Given the description of an element on the screen output the (x, y) to click on. 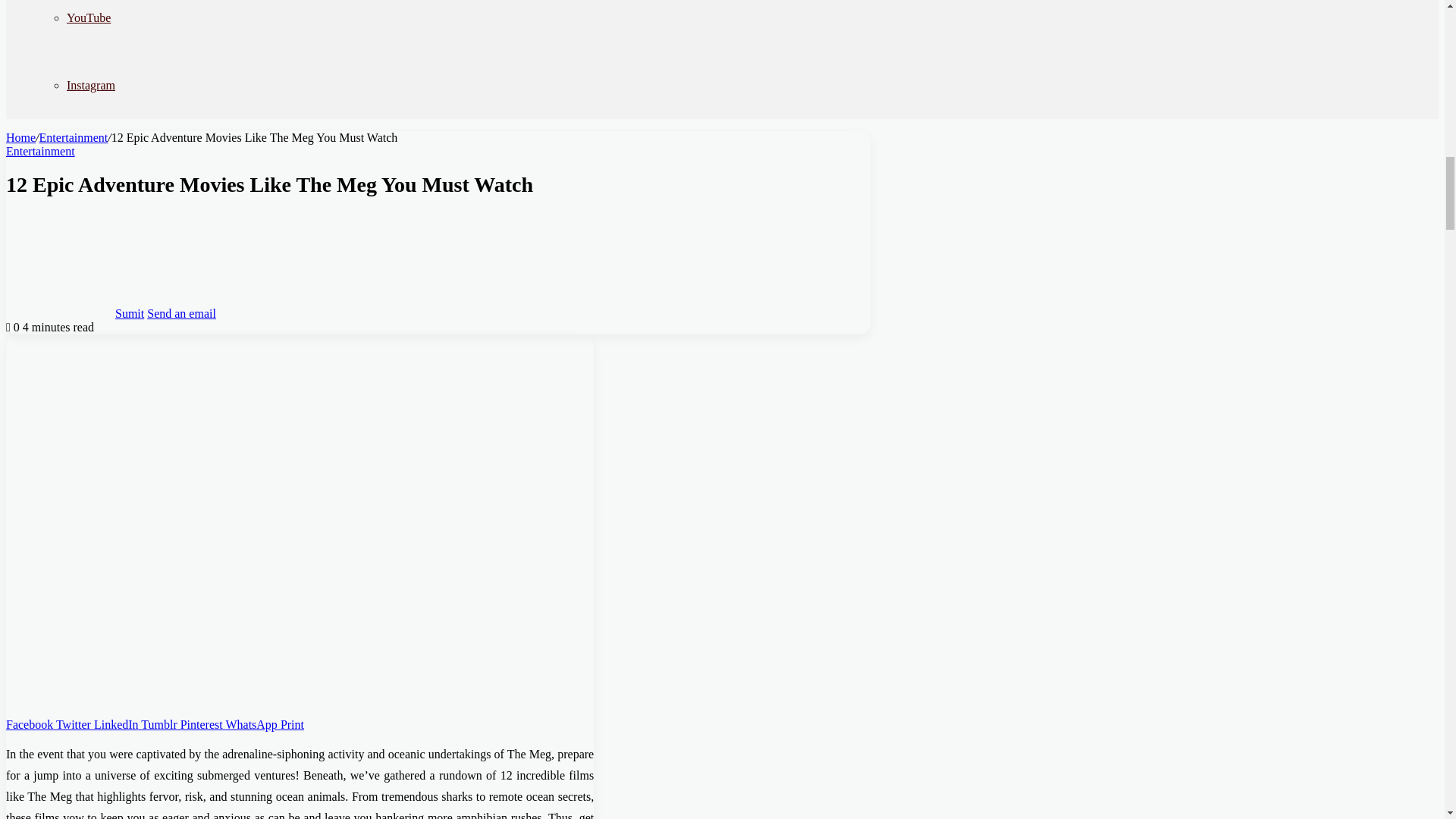
Entertainment (73, 137)
Facebook (30, 723)
Instagram (90, 84)
Sumit (129, 312)
YouTube (88, 17)
LinkedIn (117, 723)
LinkedIn (117, 723)
Home (19, 137)
Facebook (30, 723)
Sumit (129, 312)
